Given the description of an element on the screen output the (x, y) to click on. 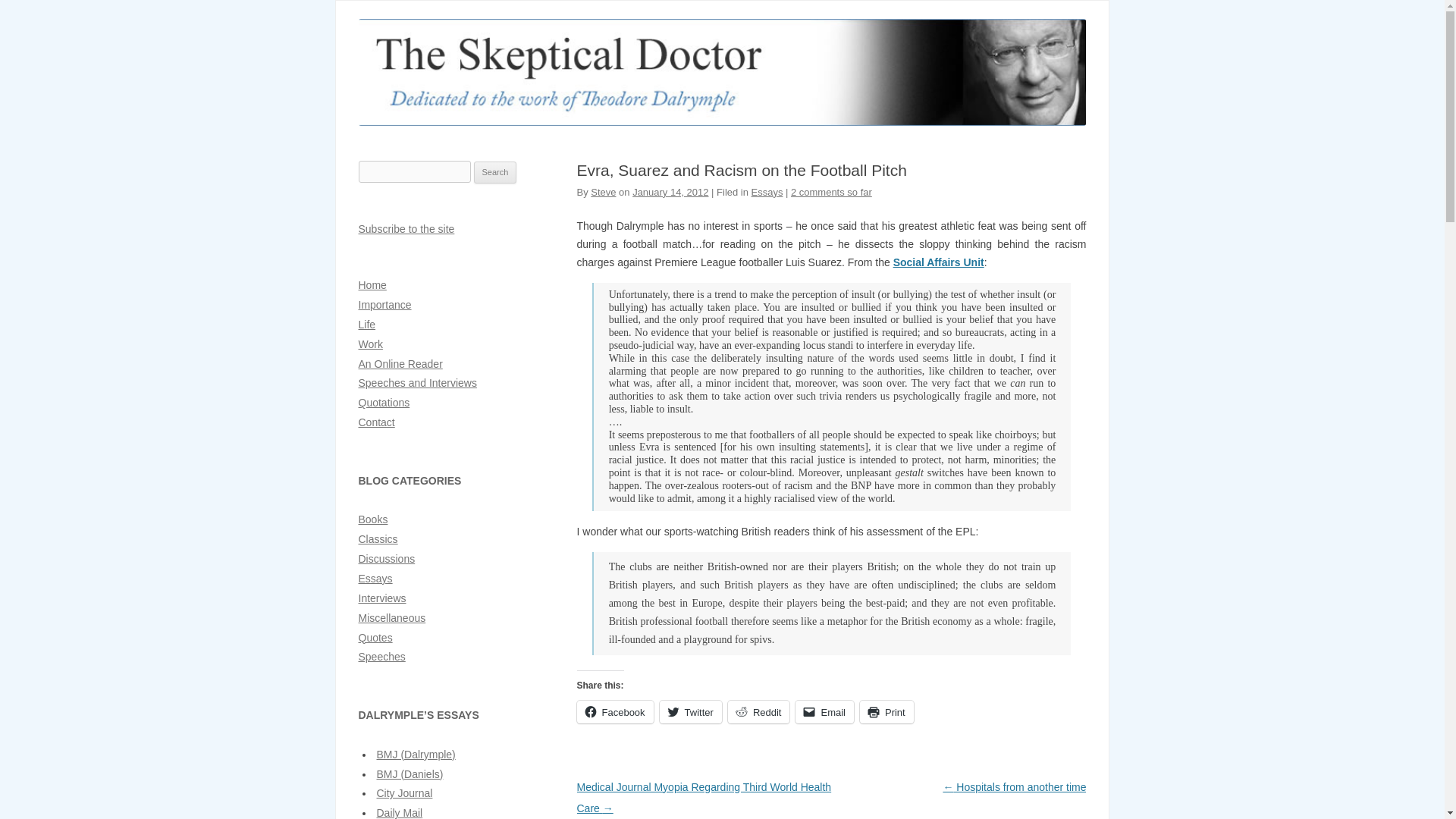
Click to share on Twitter (690, 712)
Click to print (887, 712)
Search (495, 172)
Click to share on Reddit (759, 712)
Click to email a link to a friend (823, 712)
Steve (603, 192)
The Skeptical Doctor (722, 121)
5:36 pm (669, 192)
View all posts by Steve (603, 192)
Click to share on Facebook (614, 712)
